Given the description of an element on the screen output the (x, y) to click on. 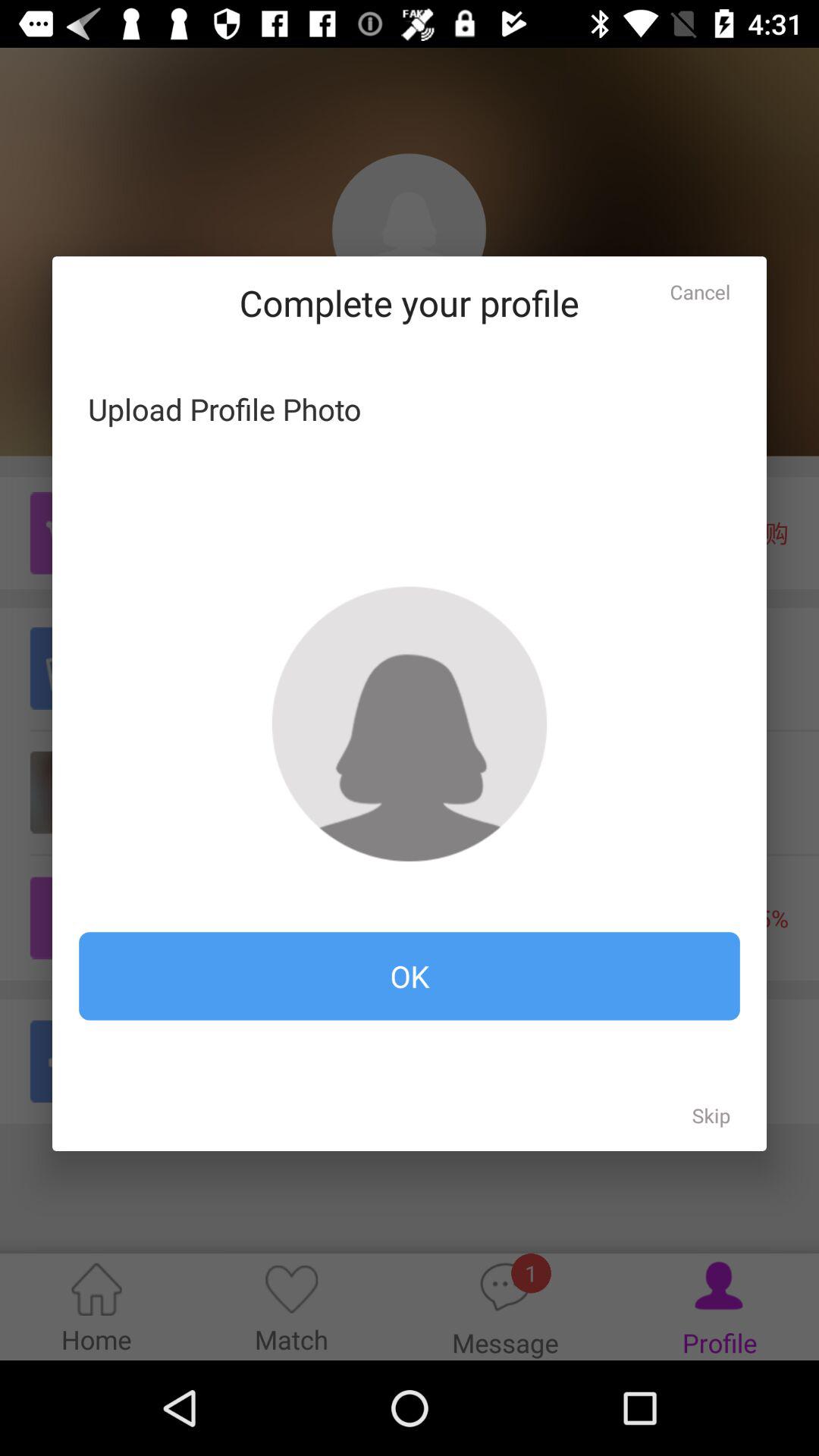
tap the item at the bottom (409, 976)
